Given the description of an element on the screen output the (x, y) to click on. 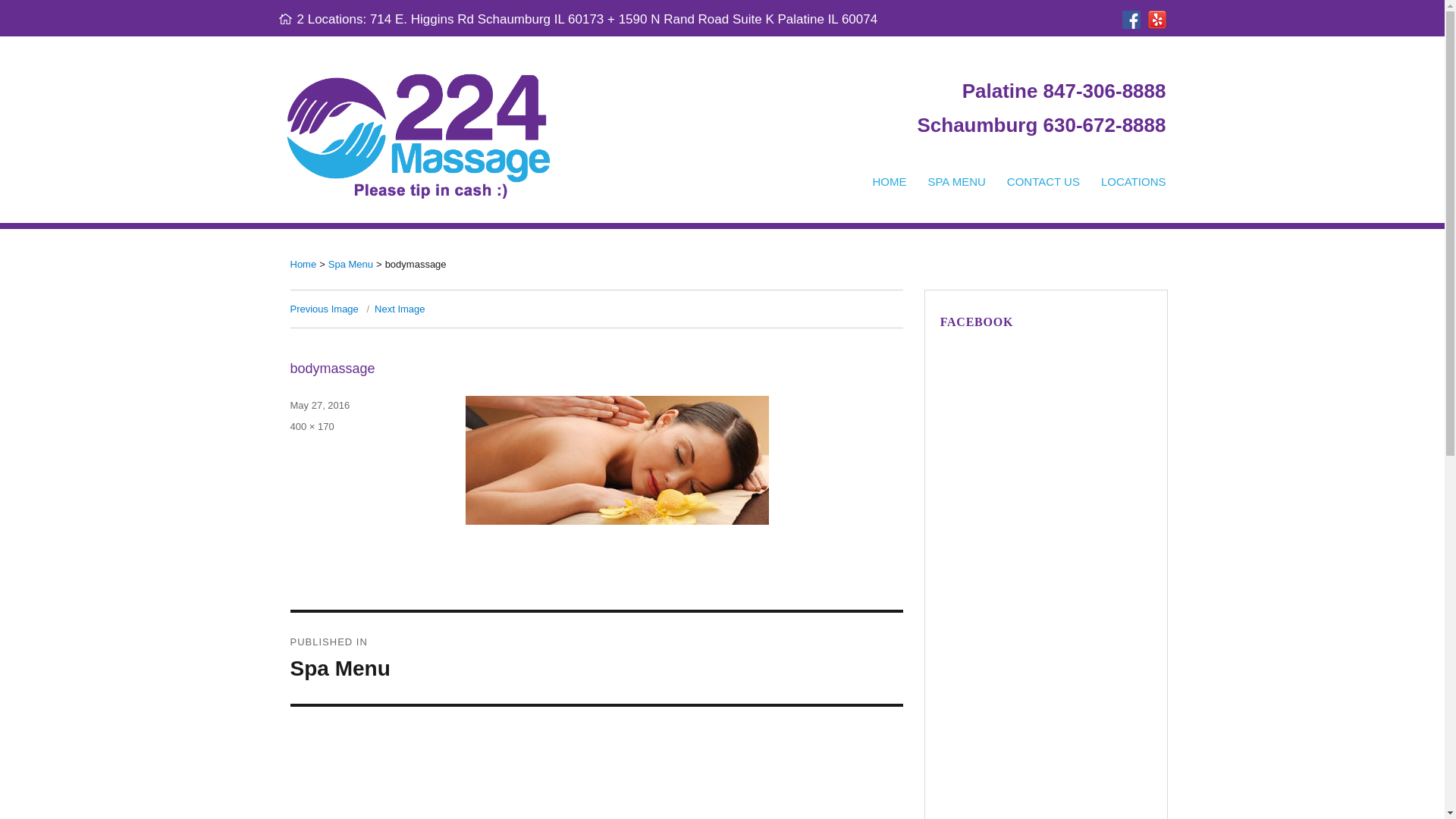
SPA MENU Element type: text (956, 181)
HOME Element type: text (889, 181)
Home Element type: text (302, 263)
Previous Image Element type: text (323, 308)
Spa Menu Element type: text (350, 263)
LOCATIONS Element type: text (1133, 181)
May 27, 2016 Element type: text (319, 405)
PUBLISHED IN
Spa Menu Element type: text (596, 657)
Next Image Element type: text (399, 308)
Schaumburg 630-672-8888 Element type: text (1037, 127)
CONTACT US Element type: text (1043, 181)
Palatine 847-306-8888 Element type: text (1060, 93)
